Given the description of an element on the screen output the (x, y) to click on. 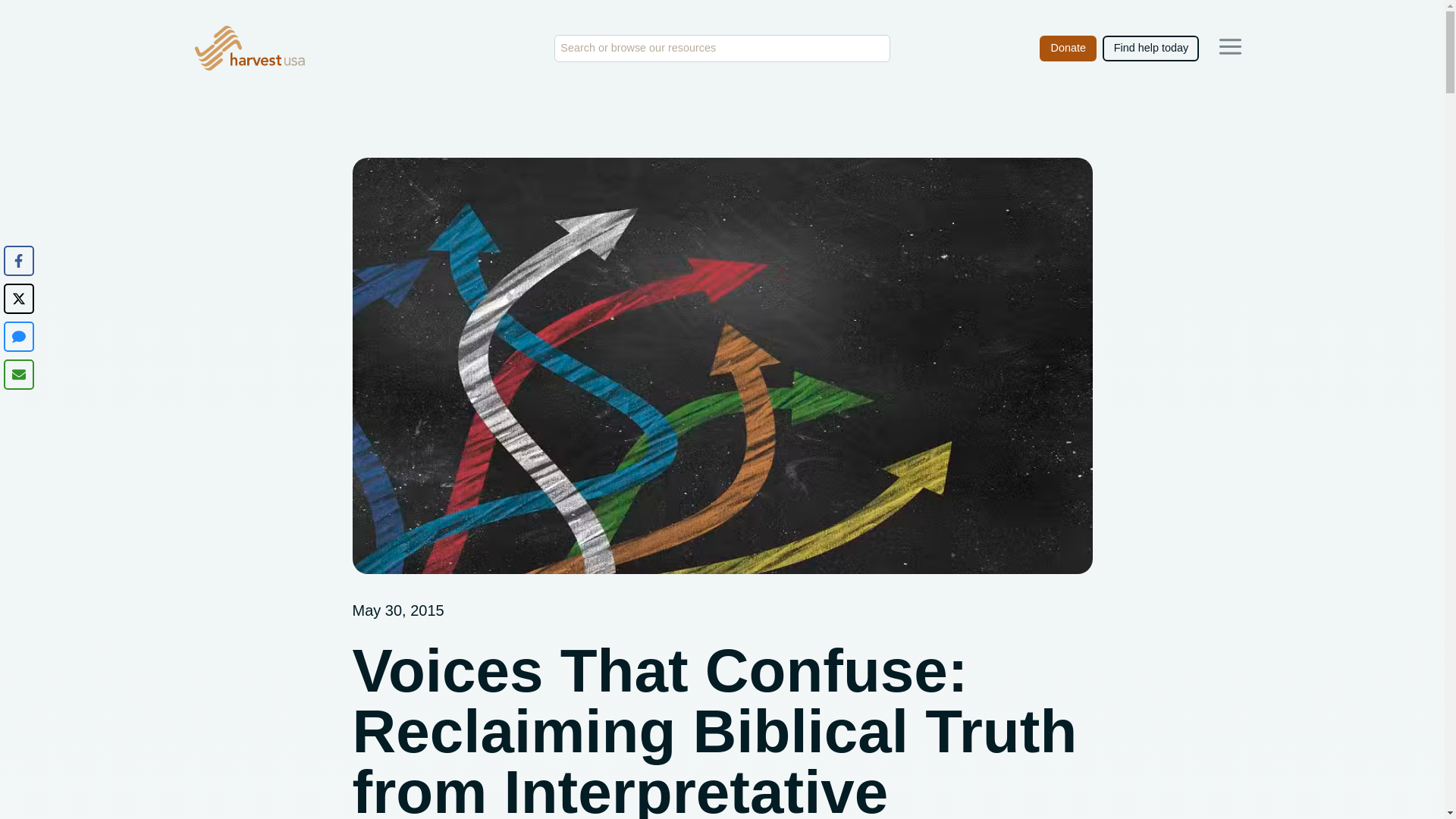
Find help today (1150, 49)
Learn More (1230, 46)
Donate (1067, 49)
